Given the description of an element on the screen output the (x, y) to click on. 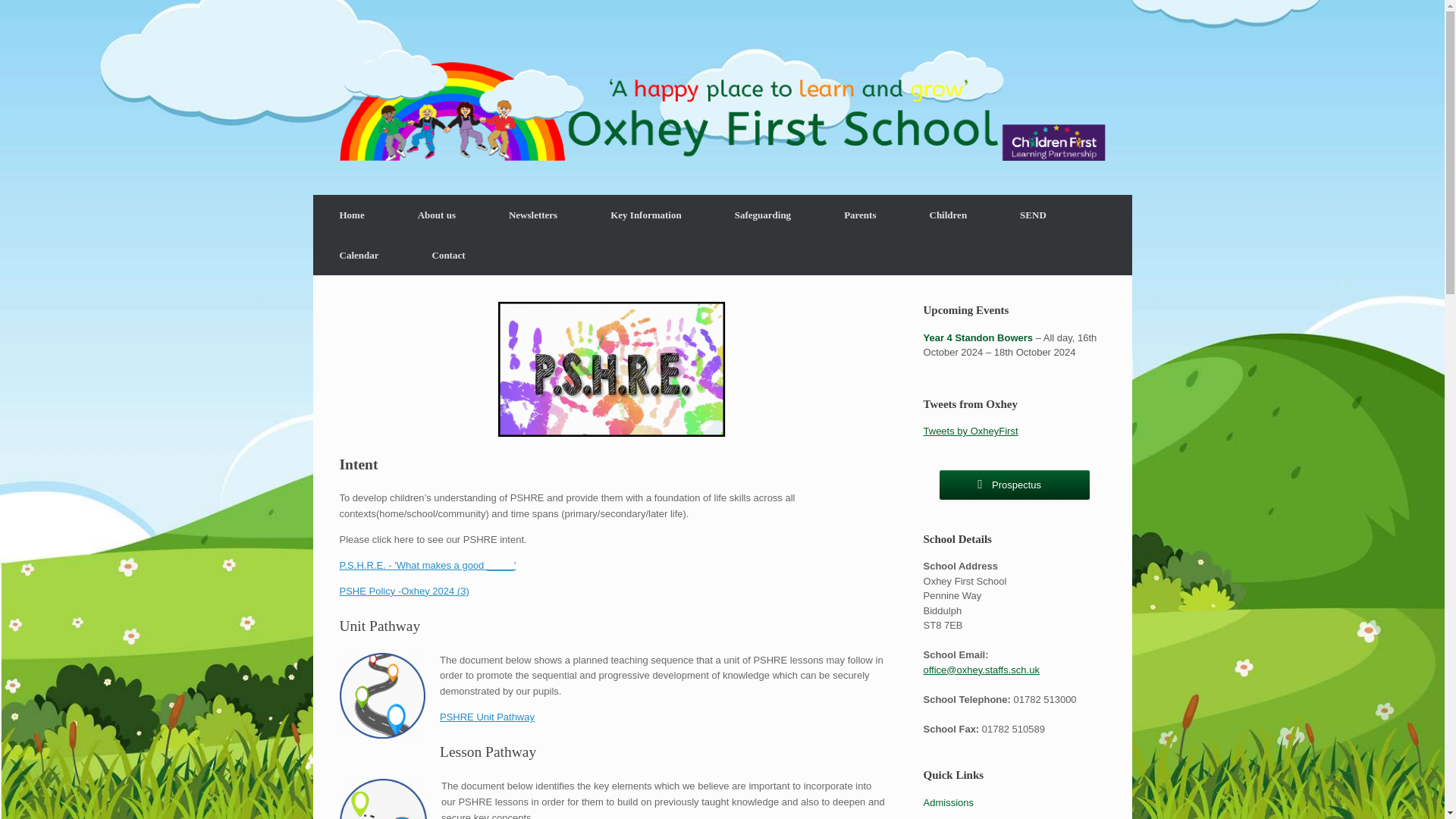
Safeguarding (761, 214)
Key Information (645, 214)
About us (436, 214)
Newsletters (532, 214)
Parents (859, 214)
Home (351, 214)
Children (947, 214)
